Given the description of an element on the screen output the (x, y) to click on. 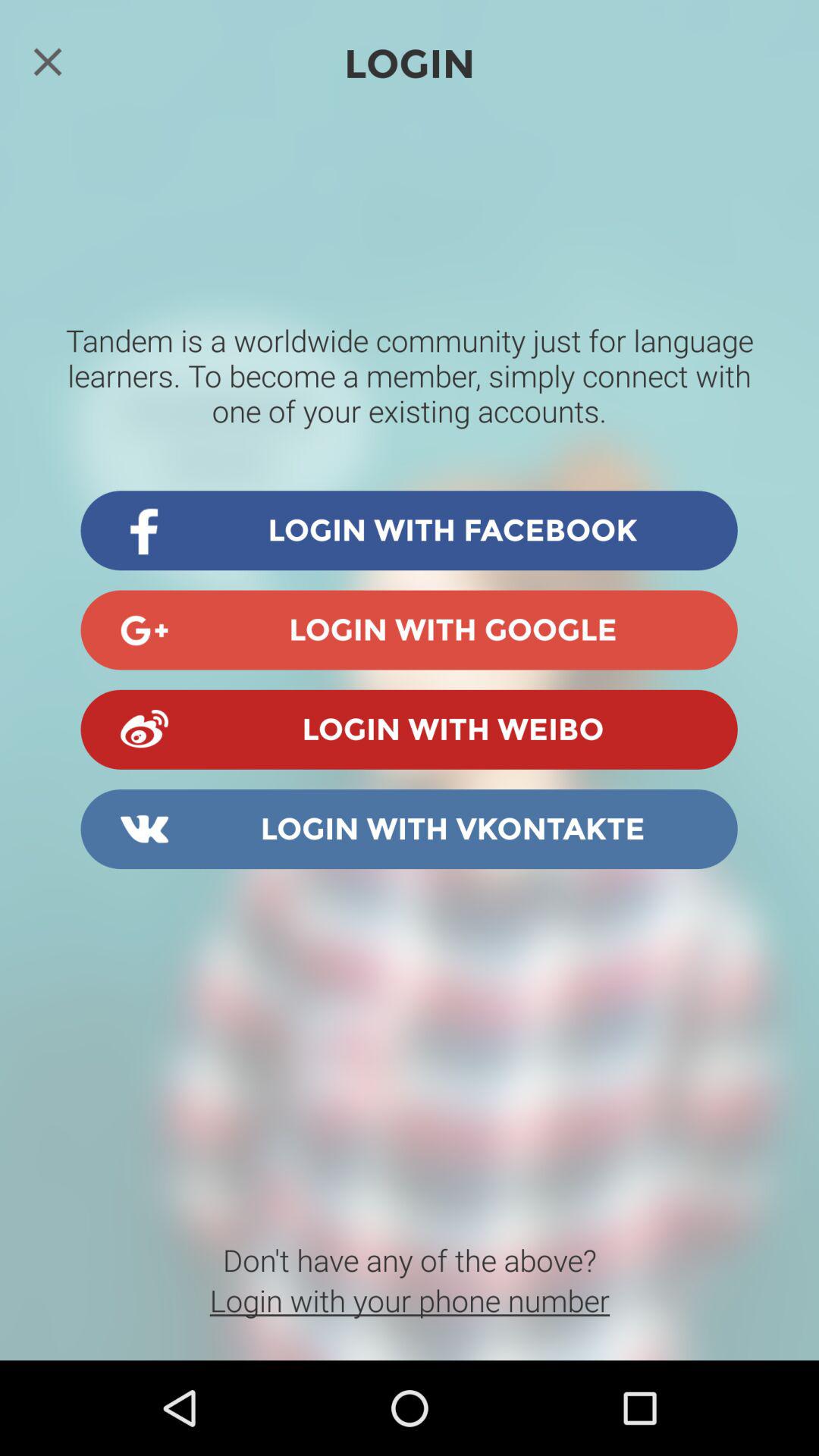
close the page (47, 61)
